Given the description of an element on the screen output the (x, y) to click on. 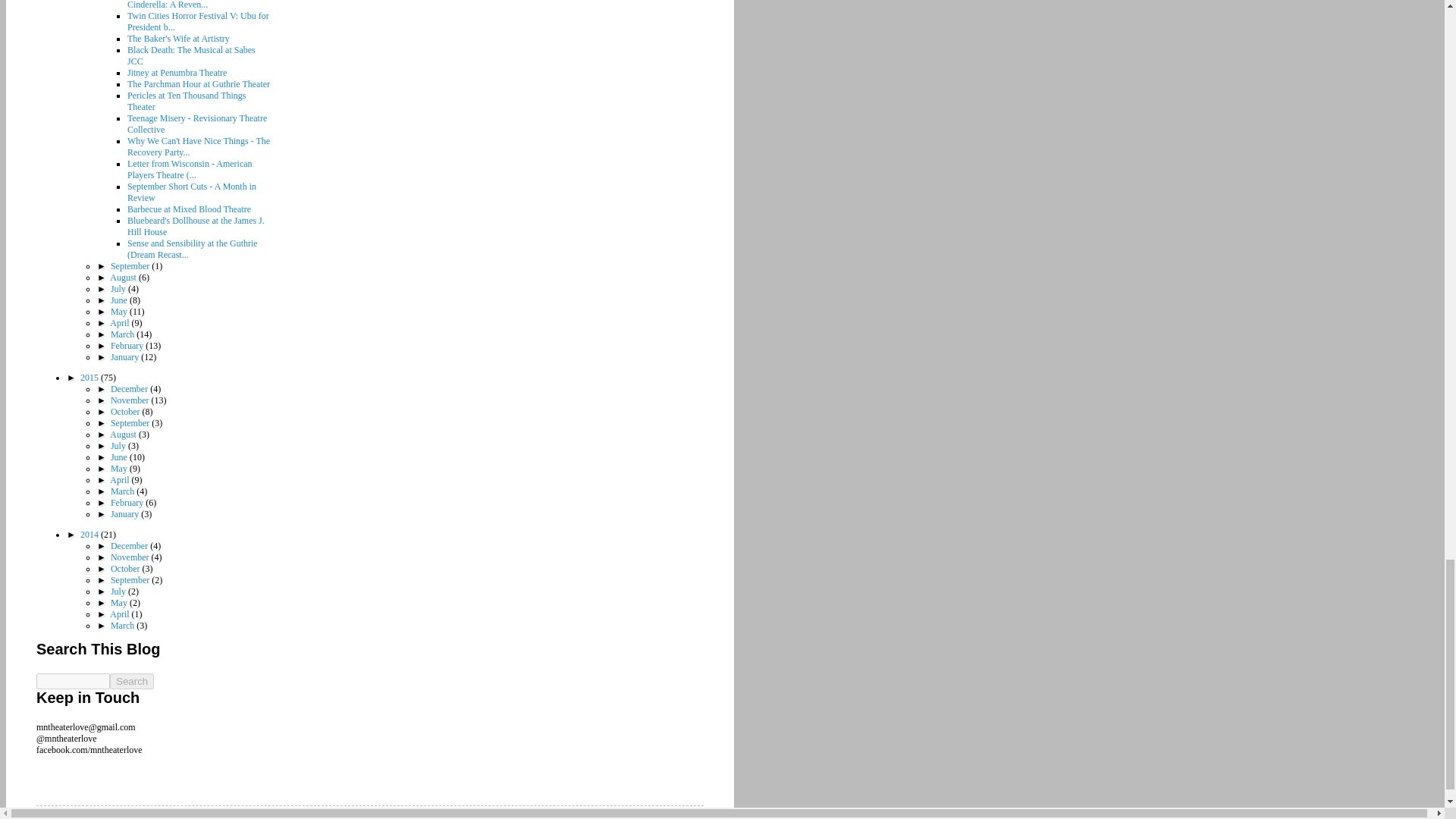
search (132, 681)
Search (132, 681)
search (73, 681)
Search (132, 681)
